Given the description of an element on the screen output the (x, y) to click on. 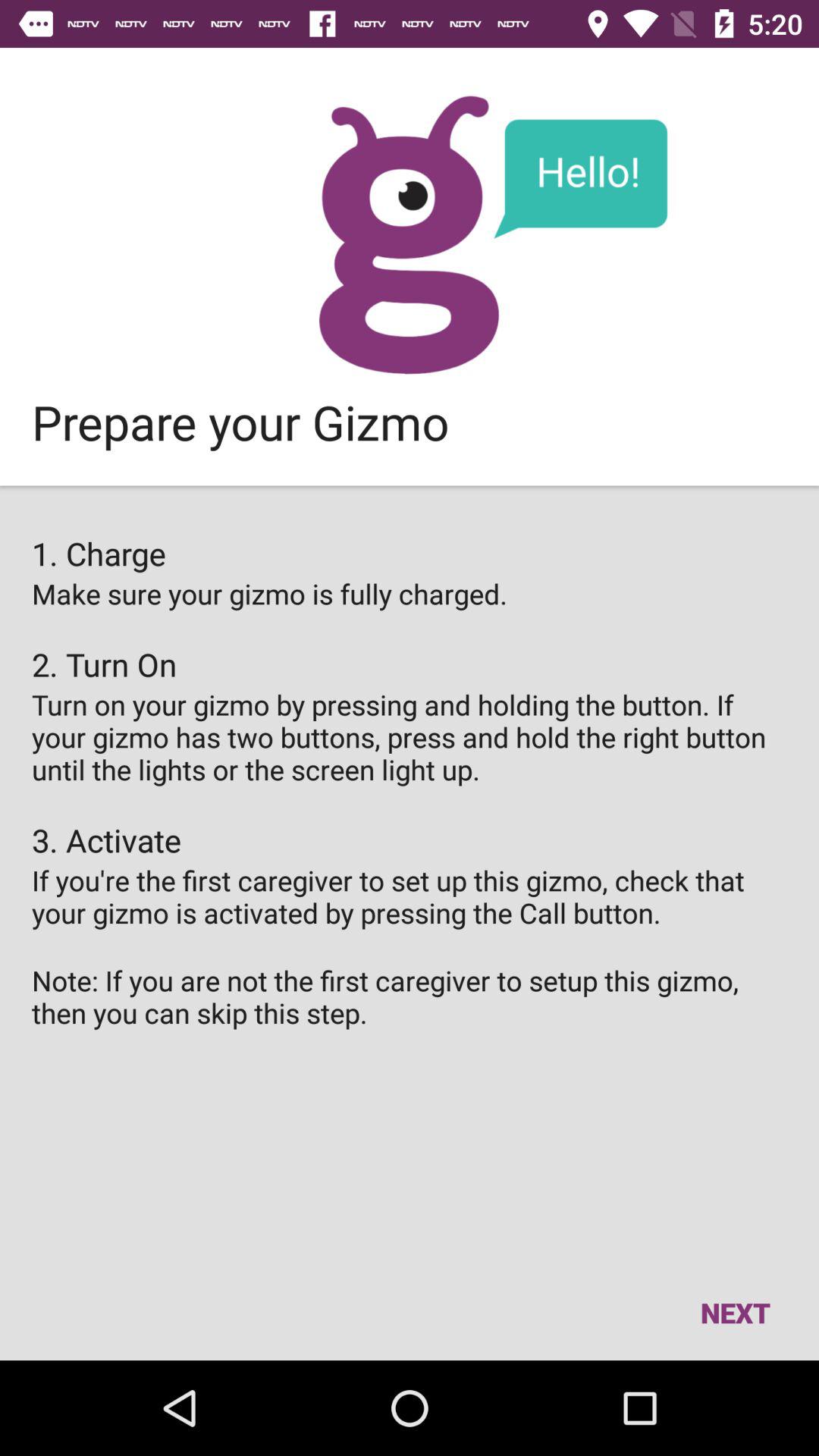
open next at the bottom right corner (735, 1312)
